Given the description of an element on the screen output the (x, y) to click on. 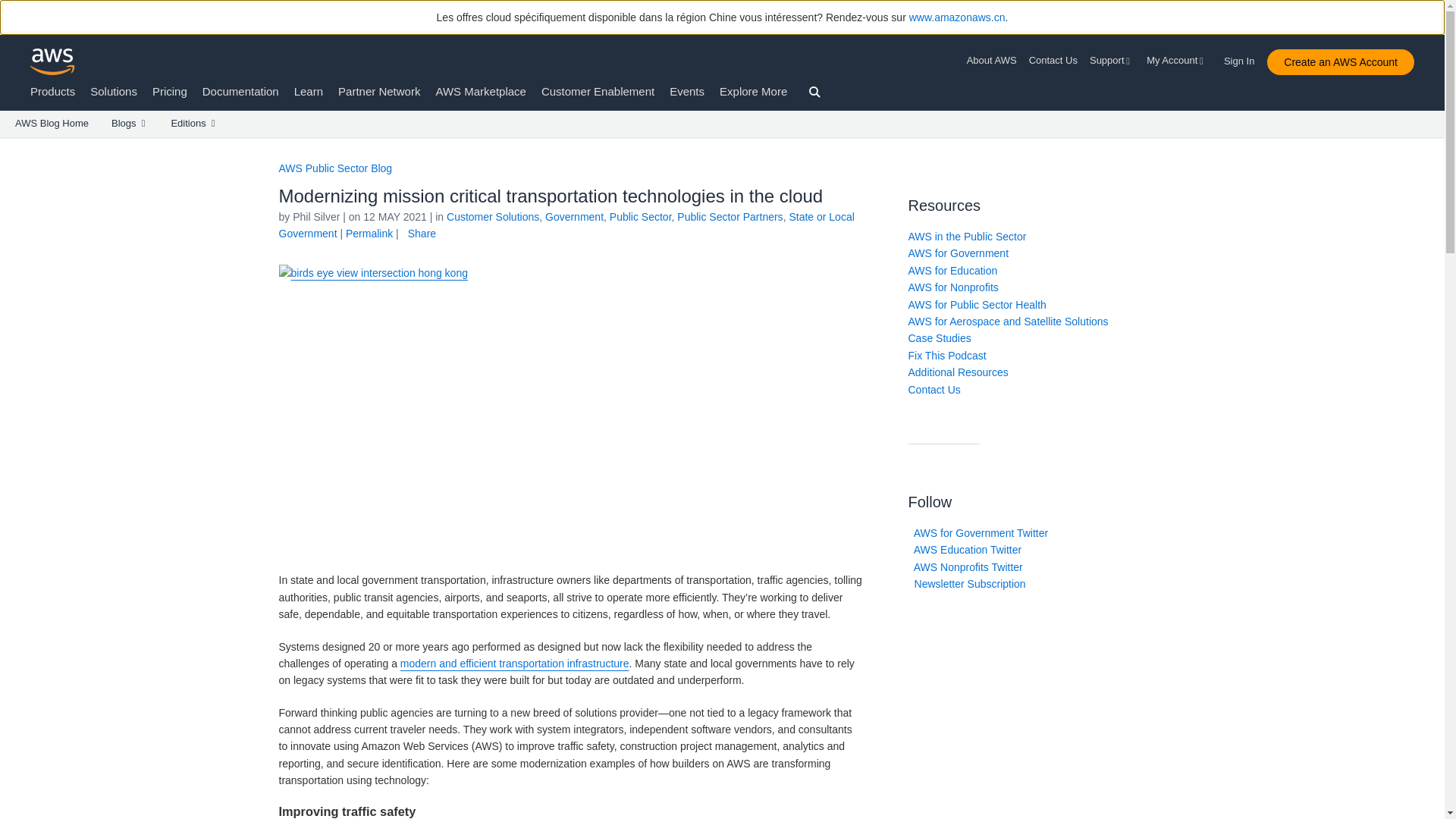
View all posts in Public Sector (640, 216)
Partner Network (378, 91)
Pricing (169, 91)
Learn (308, 91)
AWS Marketplace (480, 91)
Create an AWS Account (1339, 62)
Documentation (240, 91)
View all posts in Government (574, 216)
Solutions (113, 91)
Skip to Main Content (7, 143)
